Given the description of an element on the screen output the (x, y) to click on. 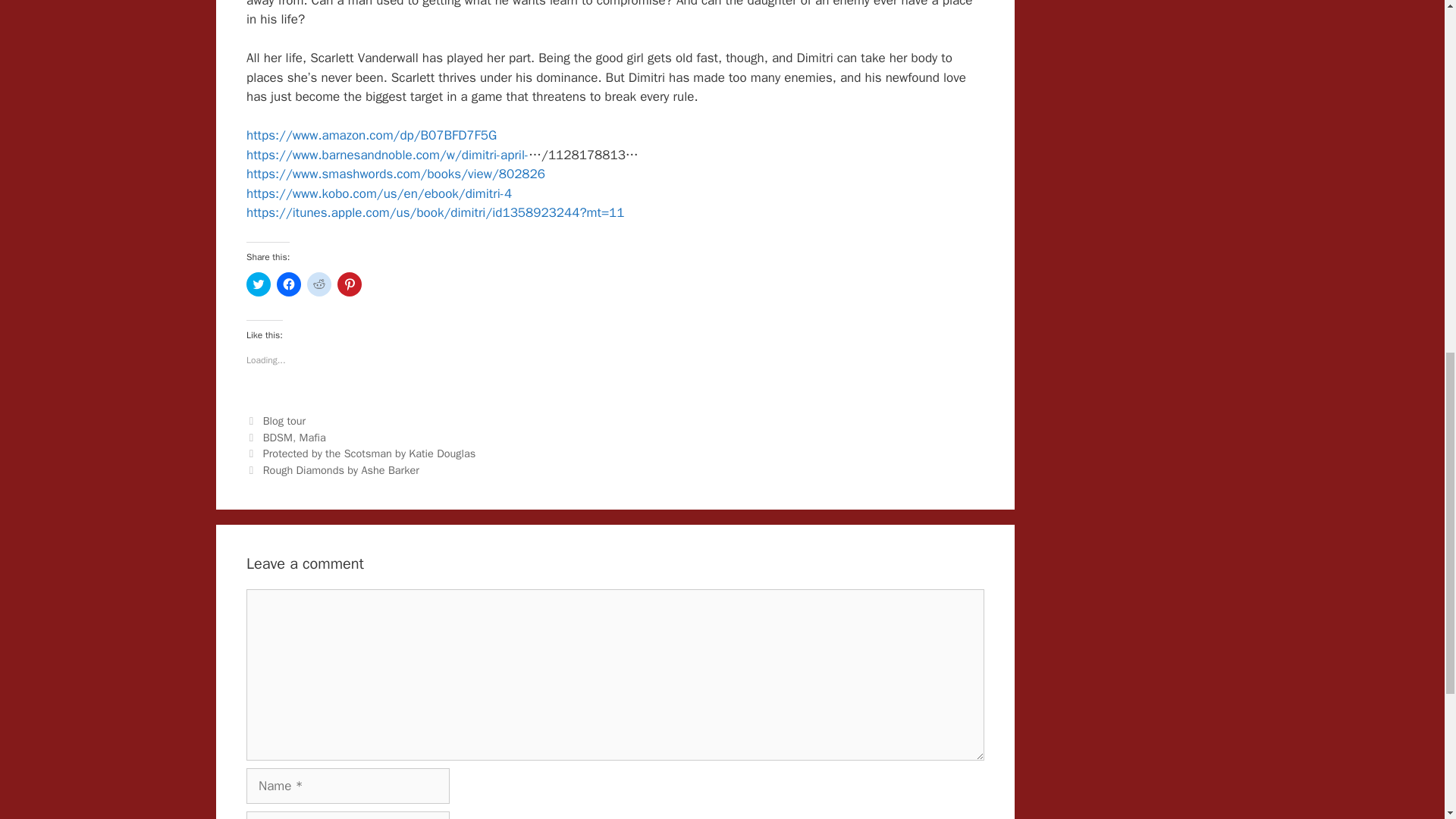
Previous (361, 453)
Click to share on Pinterest (349, 283)
Click to share on Reddit (319, 283)
Click to share on Facebook (288, 283)
Click to share on Twitter (258, 283)
Next (332, 469)
